Given the description of an element on the screen output the (x, y) to click on. 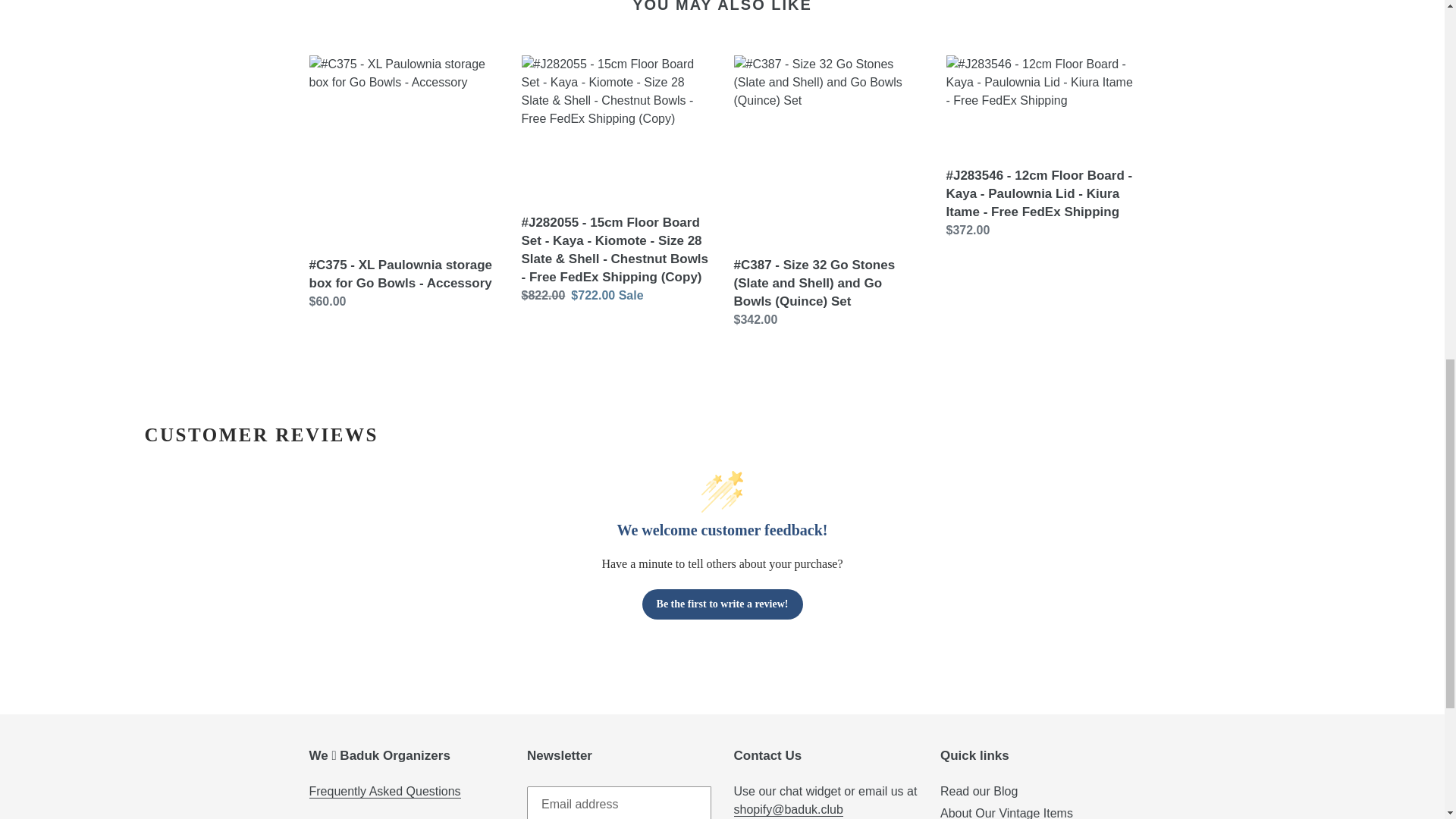
Frequently Asked Questions (384, 791)
